Given the description of an element on the screen output the (x, y) to click on. 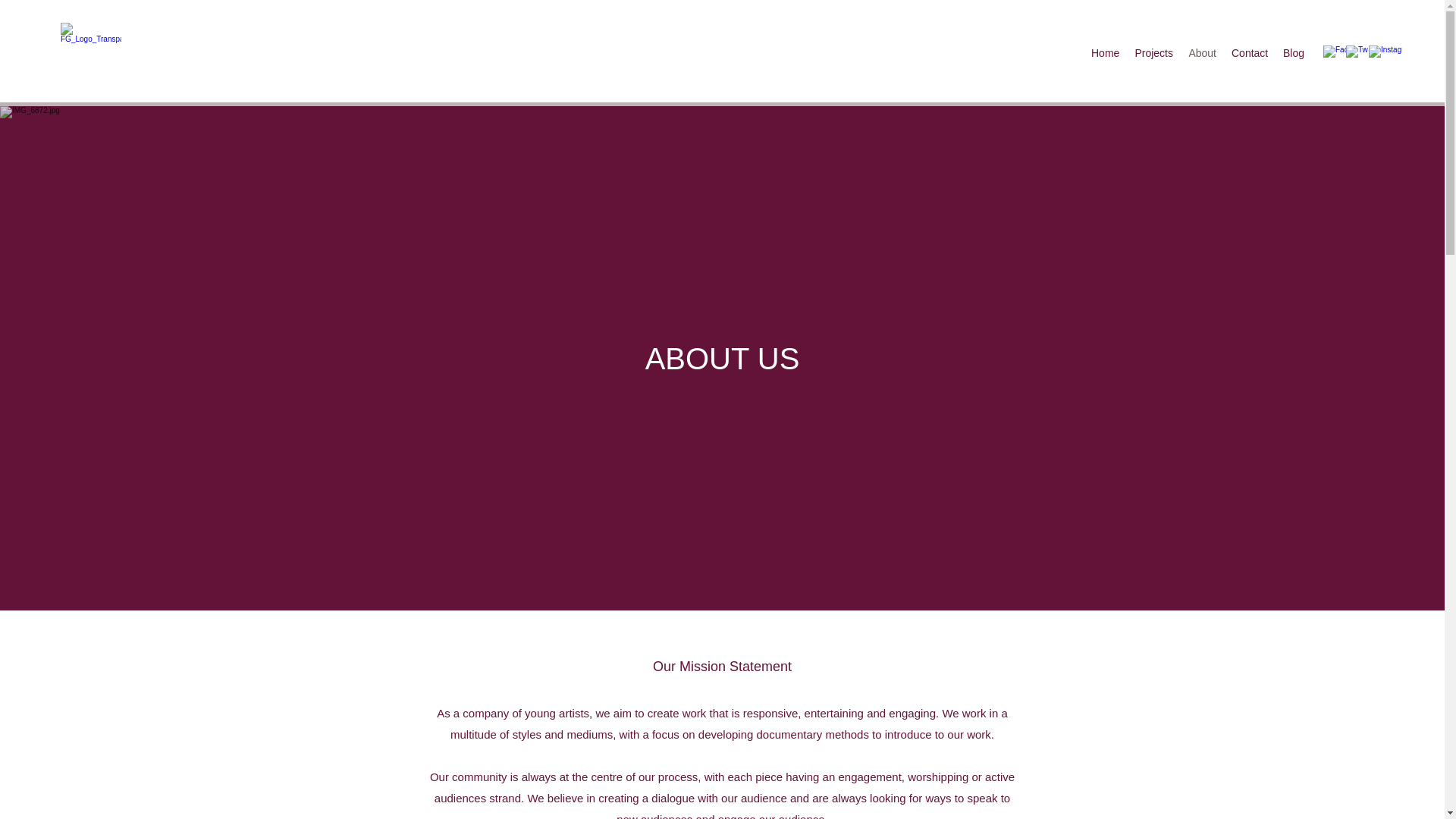
Contact (1249, 52)
Home (1104, 52)
Projects (1153, 52)
Blog (1293, 52)
About (1202, 52)
